Given the description of an element on the screen output the (x, y) to click on. 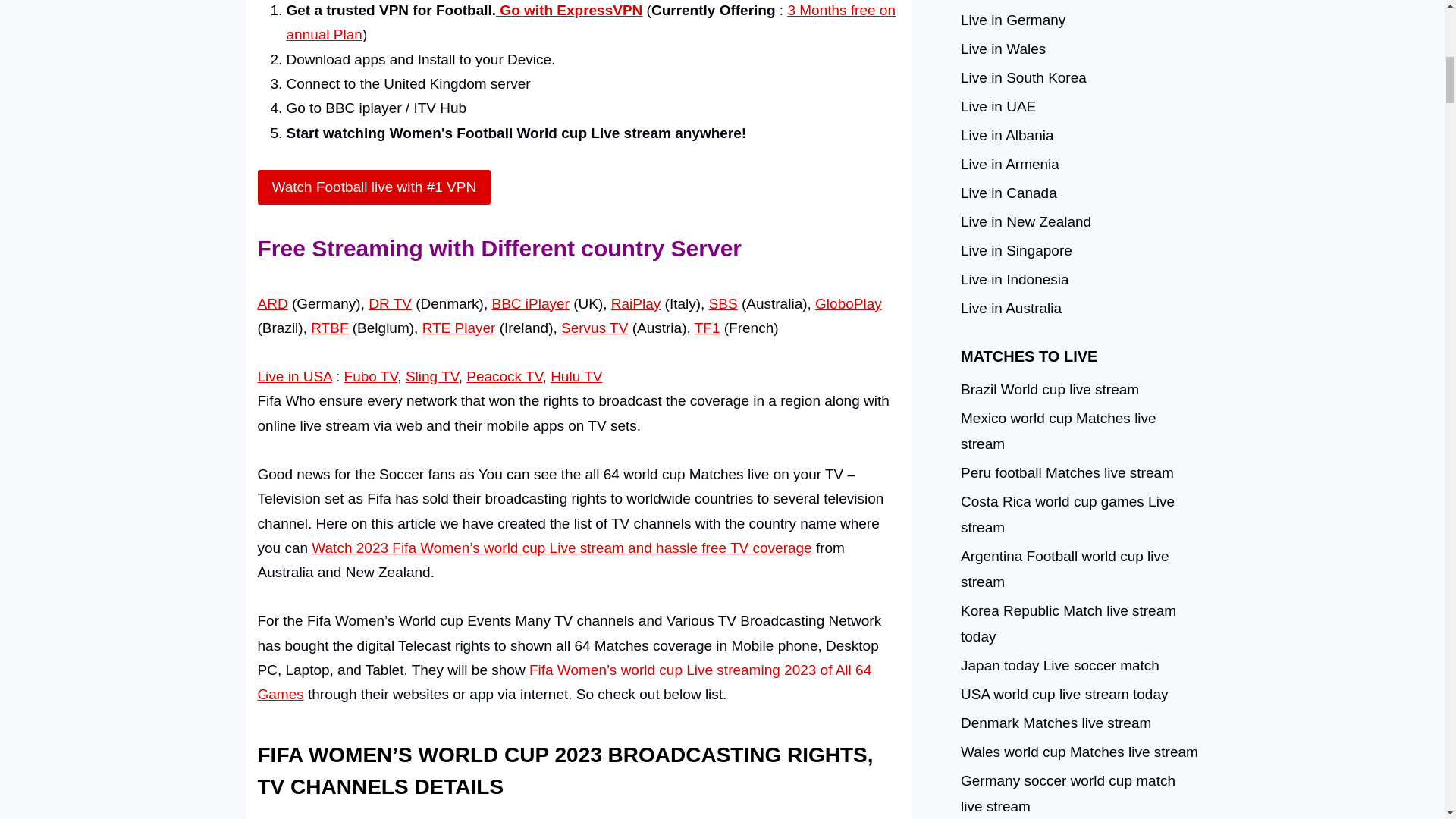
GloboPlay (848, 303)
3 Months free on annual Plan (590, 22)
DR TV (390, 303)
ARD (272, 303)
sling tv football world cup stream (432, 376)
SBS (723, 303)
BBC iPlayer (530, 303)
 Go with ExpressVPN (569, 10)
ExpressVPN Order (569, 10)
Fifa world cup live on Fubo TV (370, 376)
RaiPlay (636, 303)
